Given the description of an element on the screen output the (x, y) to click on. 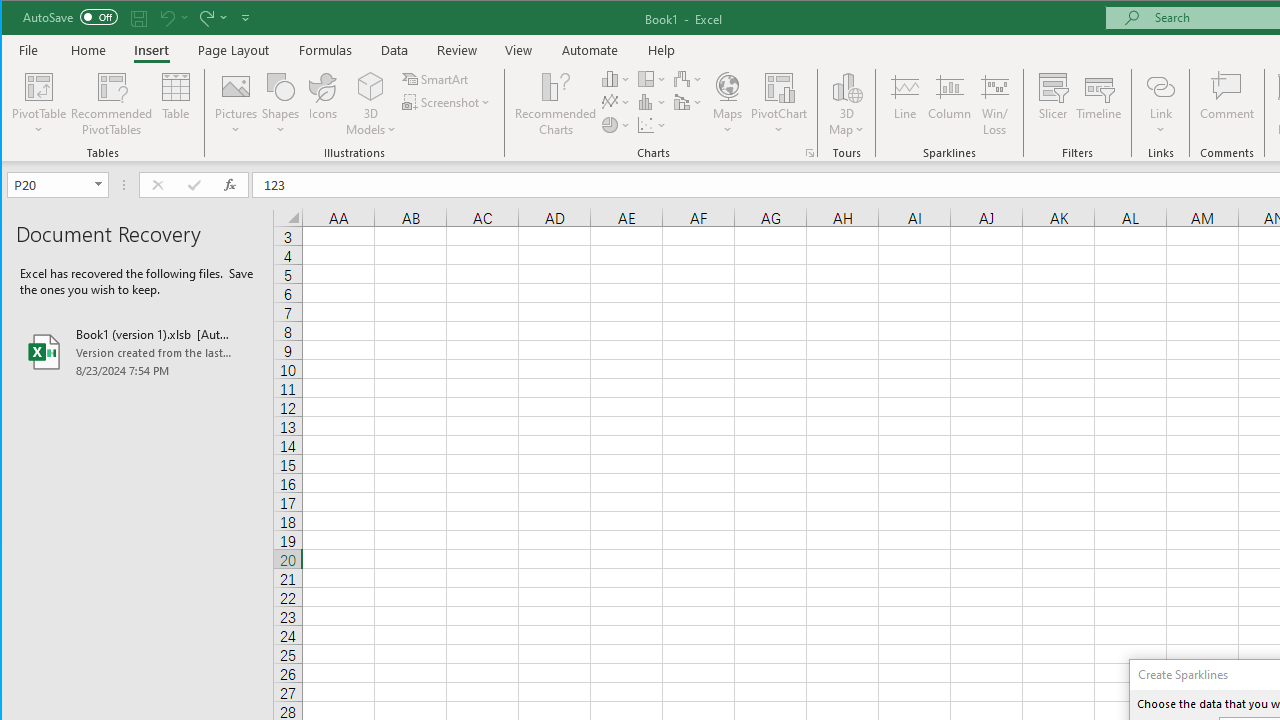
Comment (1227, 104)
Maps (727, 104)
Line (904, 104)
3D Map (846, 86)
PivotChart (779, 86)
Slicer... (1052, 104)
Column (949, 104)
Insert Pie or Doughnut Chart (616, 124)
Insert Hierarchy Chart (652, 78)
3D Models (371, 86)
Link (1160, 86)
PivotTable (39, 86)
